Given the description of an element on the screen output the (x, y) to click on. 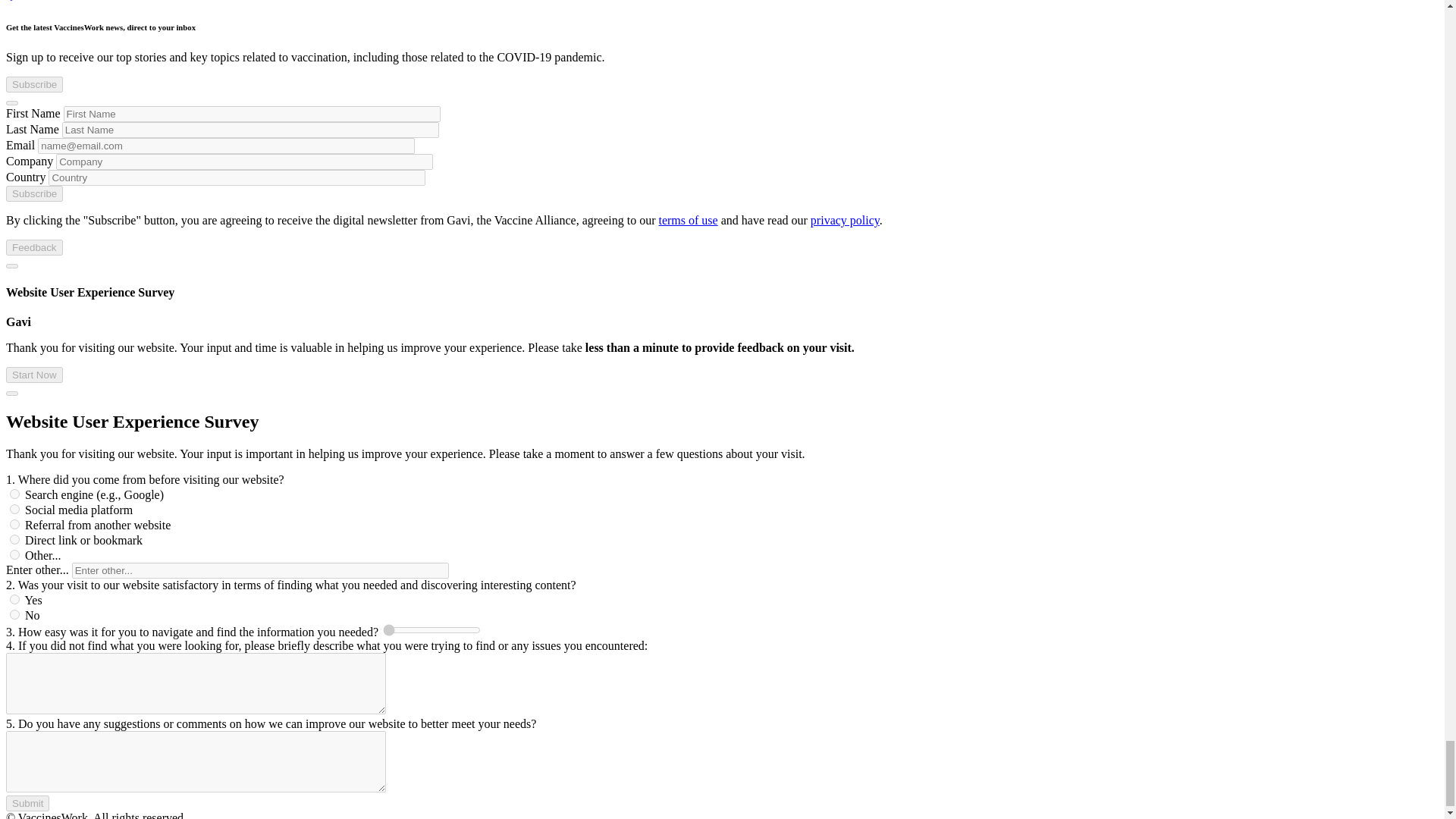
0 (431, 630)
Yes (15, 599)
No (15, 614)
Direct link or bookmark (15, 539)
Search engine (15, 493)
Social media platform (15, 509)
Submit (27, 803)
Referral from another website (15, 524)
Subscribe (33, 193)
